Given the description of an element on the screen output the (x, y) to click on. 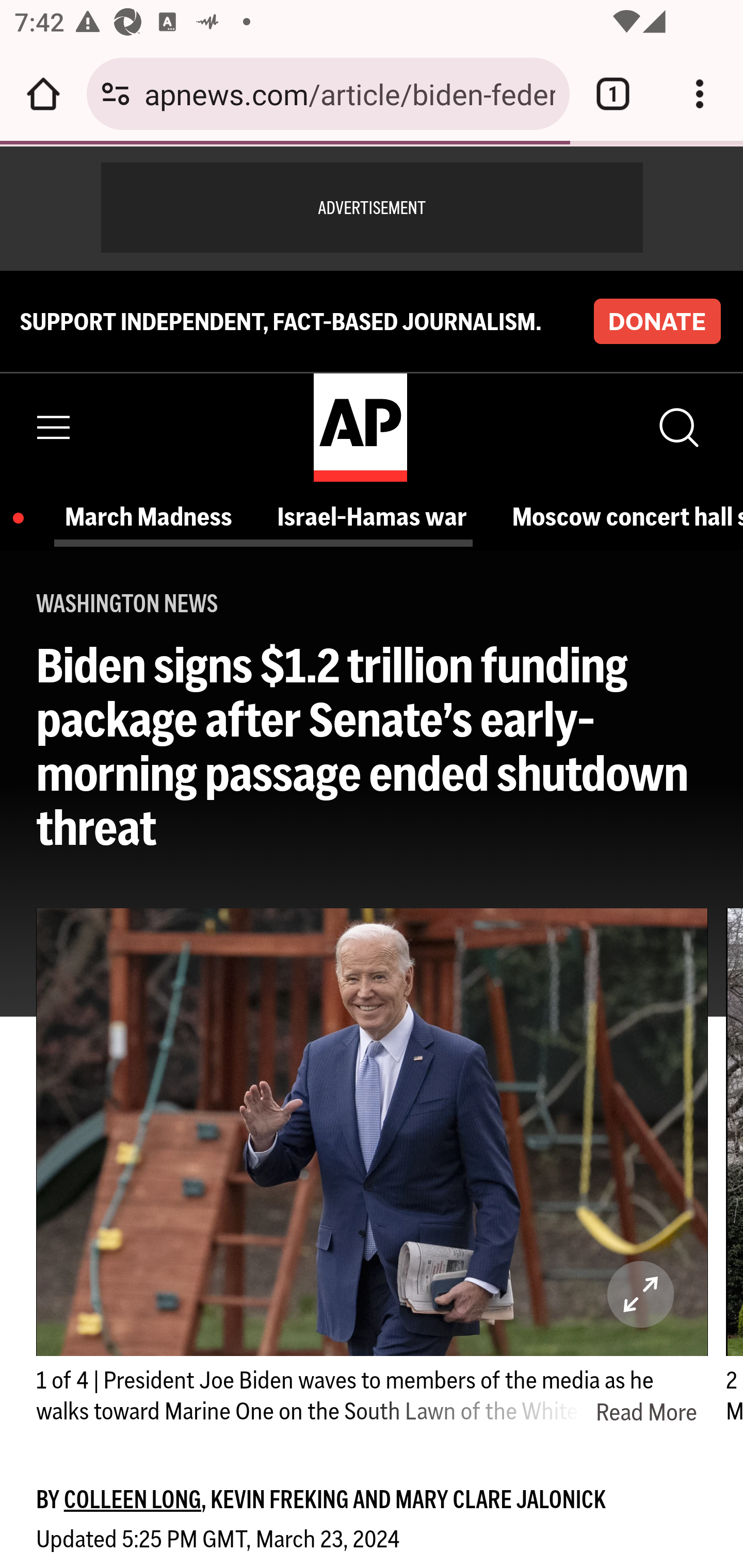
Open the home page (43, 93)
Connection is secure (115, 93)
Switch or close tabs (612, 93)
Customize and control Google Chrome (699, 93)
DONATE (657, 320)
home page AP Logo (359, 426)
Menu (54, 427)
Show Search (677, 427)
March Madness (153, 516)
Israel-Hamas war (376, 516)
Moscow concert hall shooting (627, 516)
Full screen button (641, 1294)
Read More (524, 1411)
COLLEEN LONG (132, 1498)
